Given the description of an element on the screen output the (x, y) to click on. 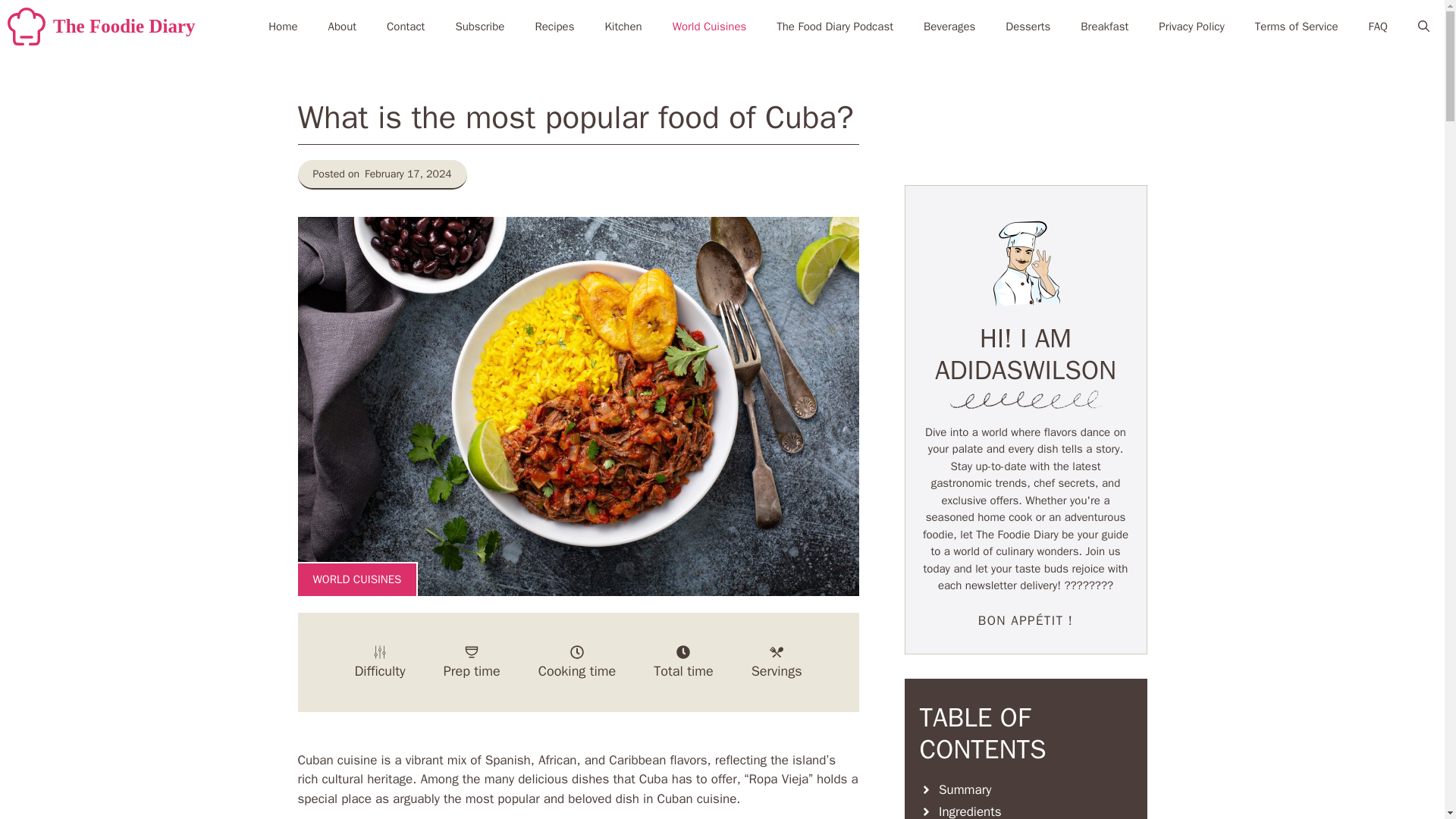
The Foodie Diary (123, 26)
Desserts (1027, 26)
Breakfast (1103, 26)
About (342, 26)
Privacy Policy (1191, 26)
Terms of Service (1297, 26)
World Cuisines (709, 26)
Home (283, 26)
Kitchen (623, 26)
Summary (1024, 790)
